Given the description of an element on the screen output the (x, y) to click on. 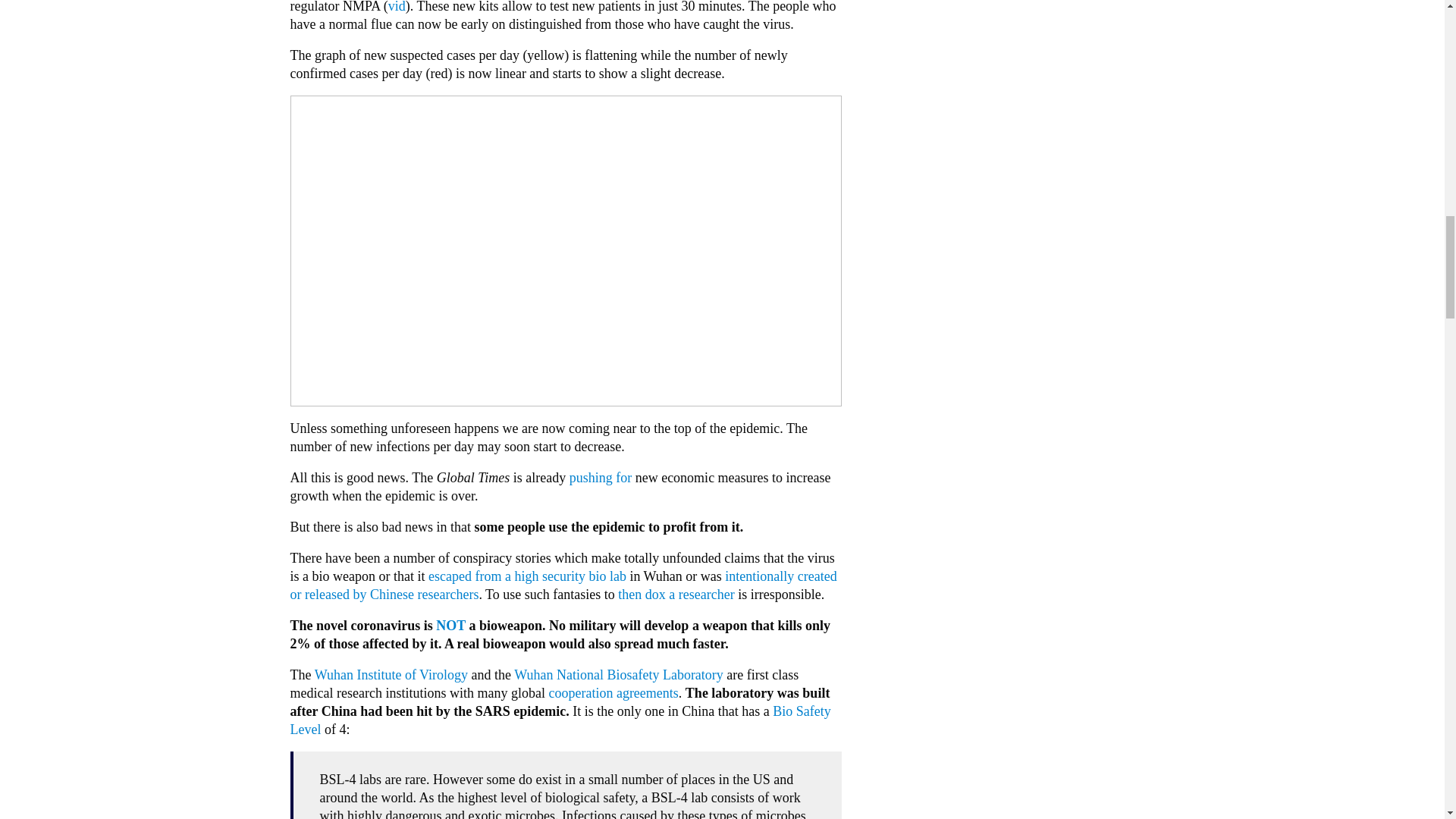
Bio Safety Level (559, 720)
Wuhan National Biosafety Laboratory (618, 674)
Wuhan Institute of Virology (390, 674)
vid (397, 6)
intentionally created or released by Chinese researchers (562, 584)
NOT (450, 625)
escaped from a high security bio lab (527, 575)
cooperation (580, 693)
pushing for (600, 477)
agreements (646, 693)
then dox a researcher (675, 594)
